Given the description of an element on the screen output the (x, y) to click on. 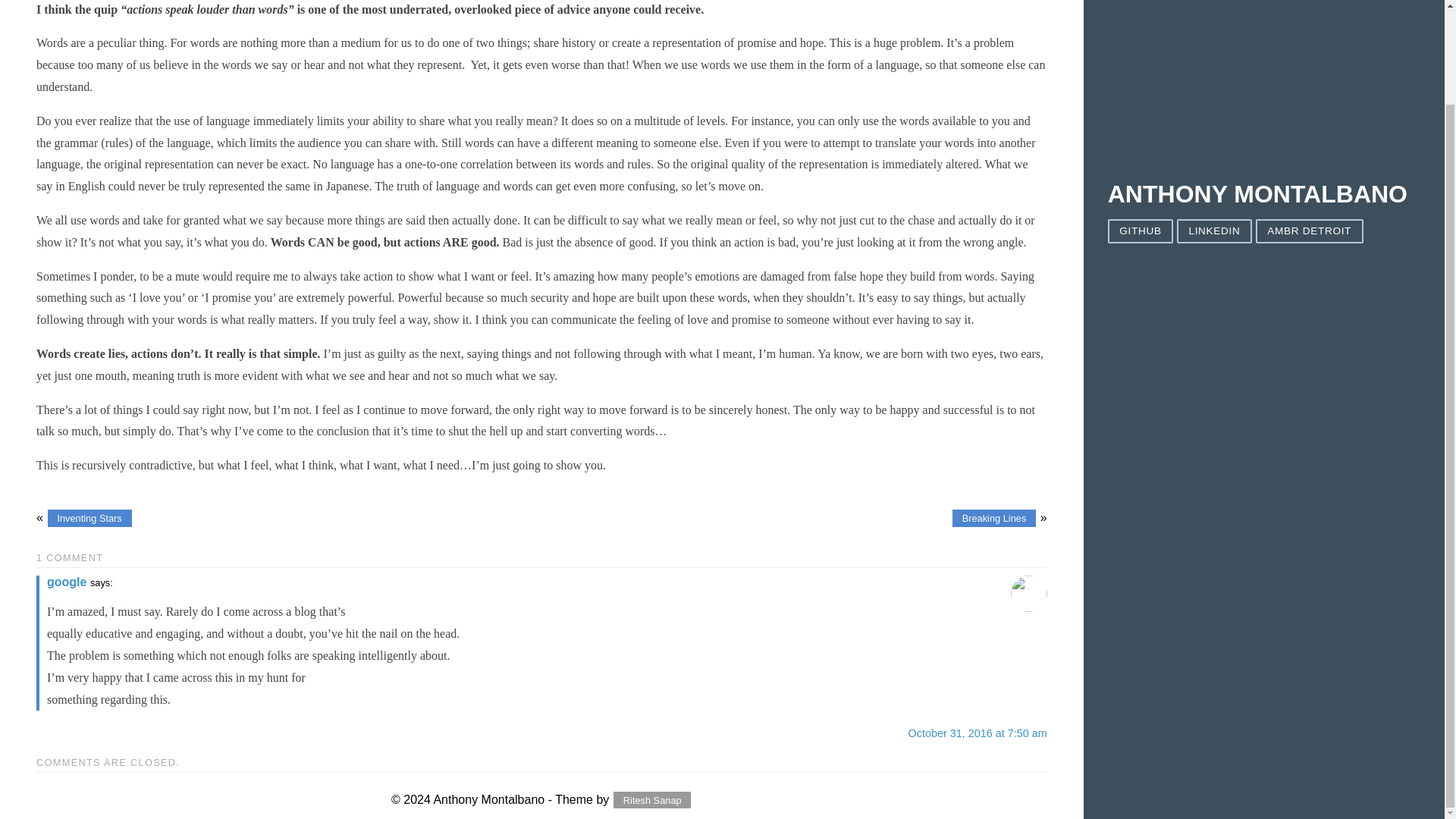
Sign up (1392, 368)
ANTHONY MONTALBANO (1257, 194)
google (65, 581)
Ritesh Sanap (651, 800)
Breaking Lines (993, 518)
LINKEDIN (1214, 231)
GITHUB (1140, 231)
Inventing Stars (90, 518)
October 31, 2016 at 7:50 am (977, 733)
AMBR DETROIT (1308, 231)
